Given the description of an element on the screen output the (x, y) to click on. 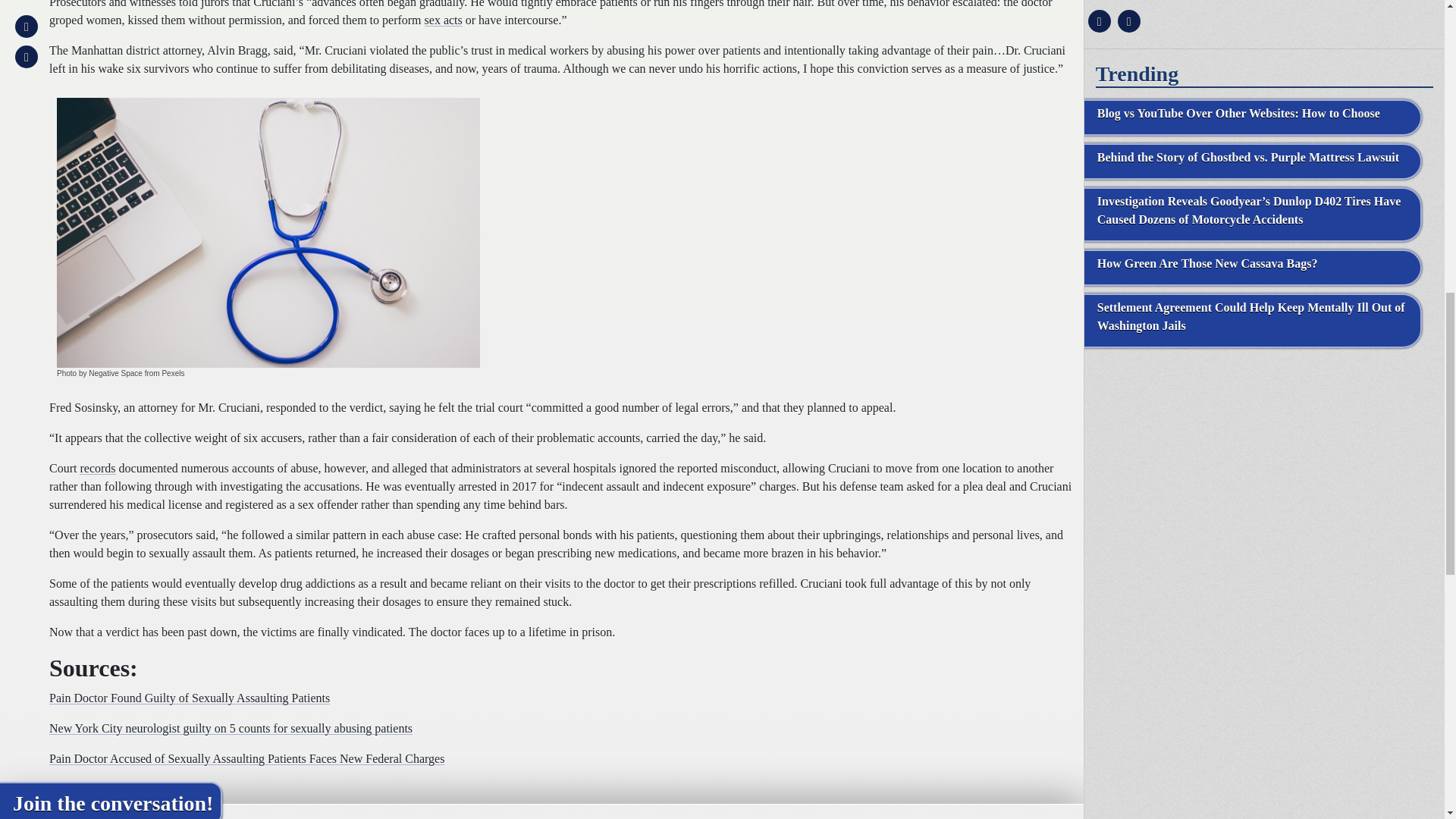
sex acts (444, 19)
records (97, 468)
Pain Doctor Found Guilty of Sexually Assaulting Patients (189, 697)
